Given the description of an element on the screen output the (x, y) to click on. 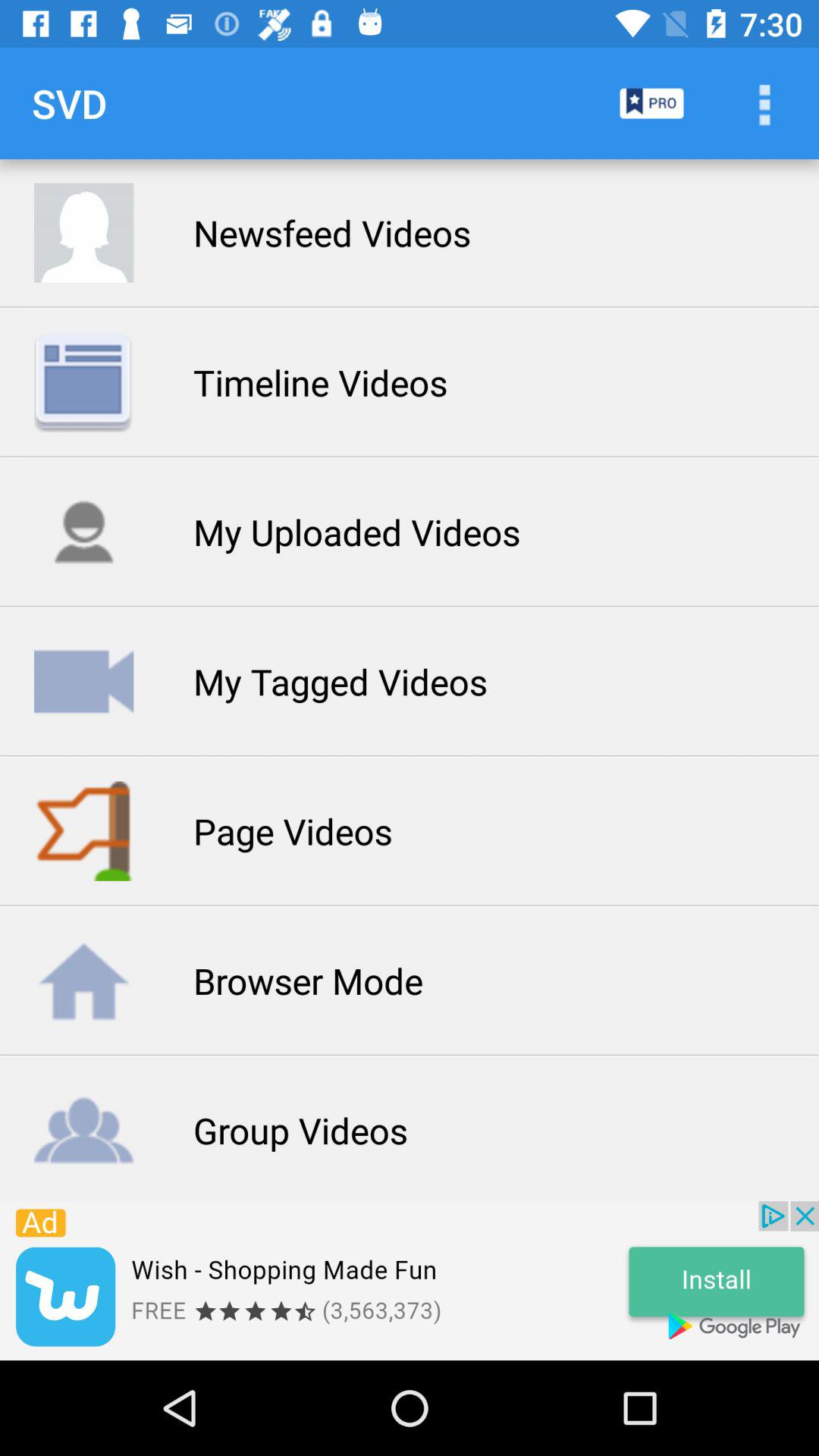
announcement (409, 1280)
